Given the description of an element on the screen output the (x, y) to click on. 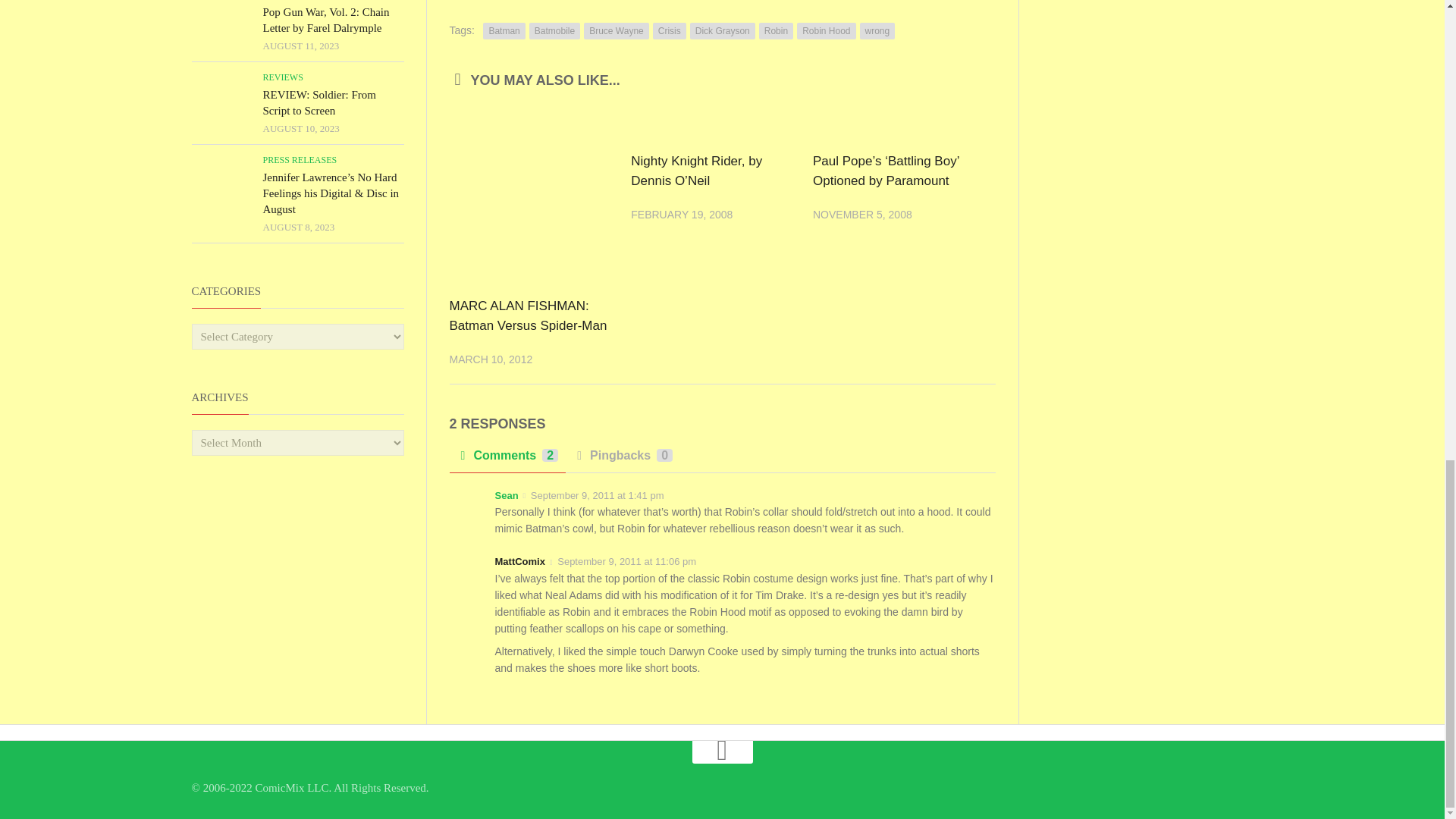
Bruce Wayne (616, 30)
Batman (503, 30)
Dick Grayson (722, 30)
Batmobile (554, 30)
Crisis (668, 30)
Robin (775, 30)
Robin Hood (826, 30)
